Given the description of an element on the screen output the (x, y) to click on. 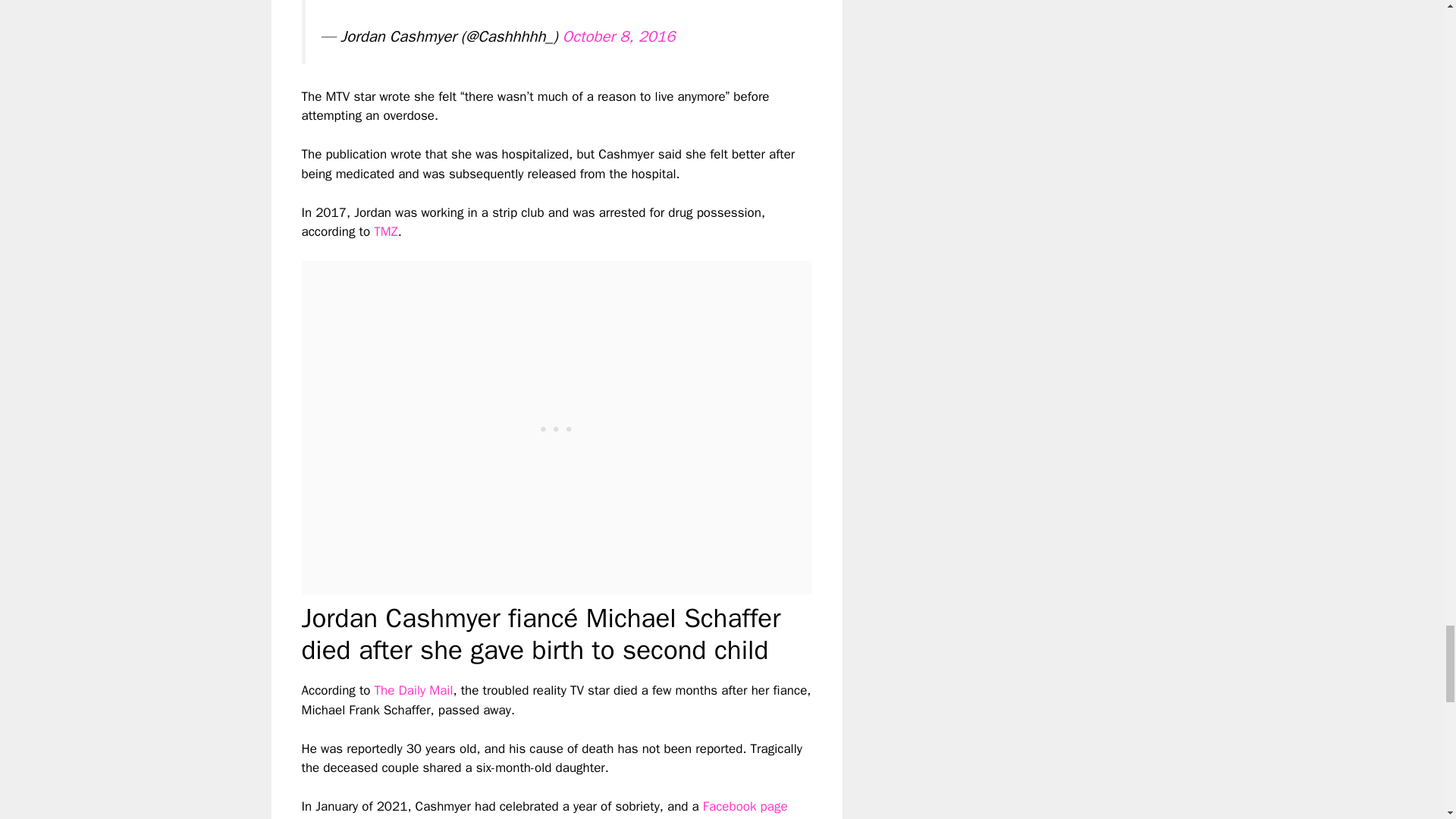
TMZ (385, 231)
Facebook page attributed to her (544, 808)
The Daily Mail (413, 690)
October 8, 2016 (618, 35)
